Given the description of an element on the screen output the (x, y) to click on. 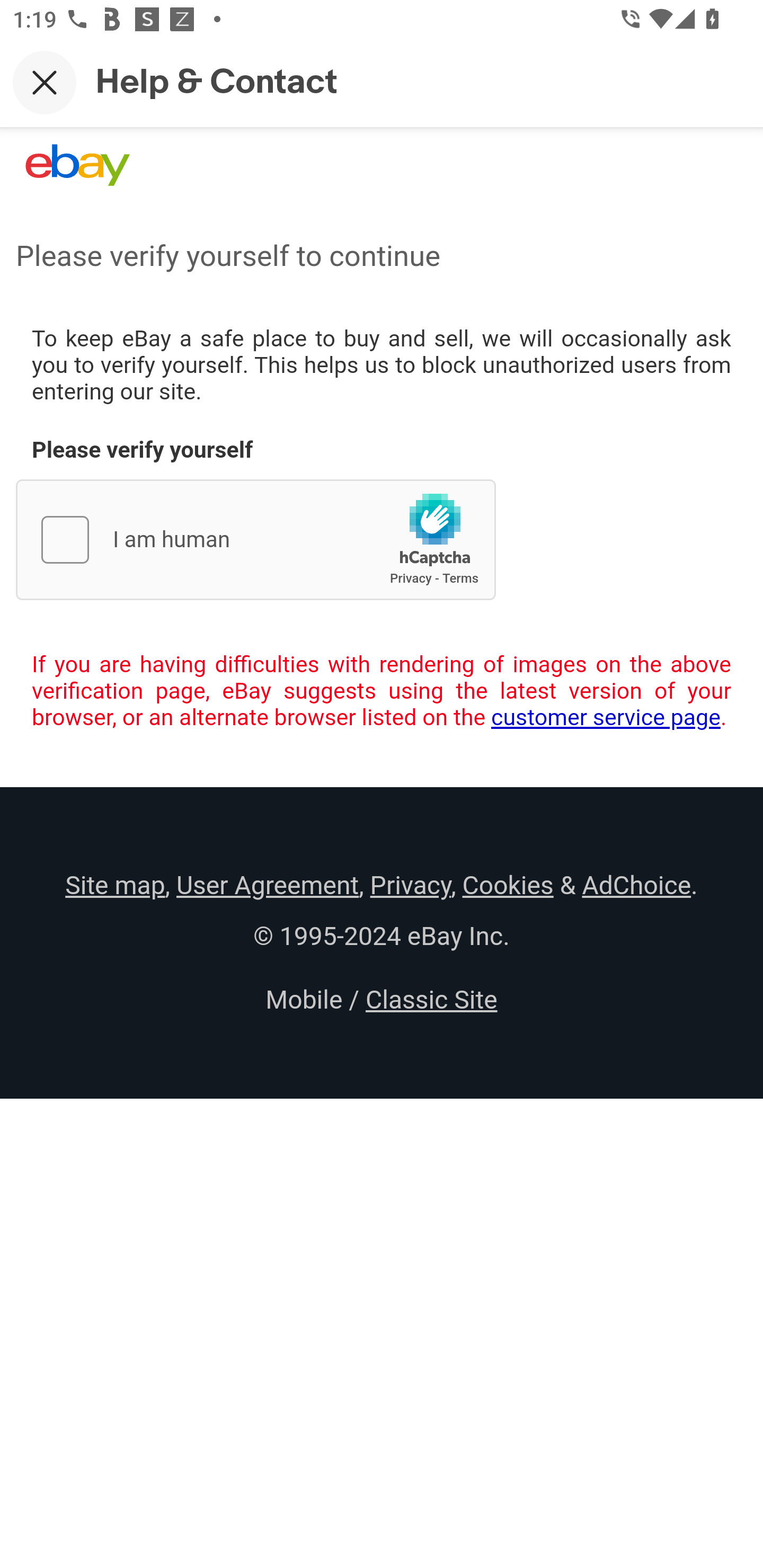
Close (44, 82)
eBay Home (77, 165)
hCaptcha Privacy Policy Privacy (410, 578)
hCaptcha Terms of Service Terms (459, 578)
customer service page (605, 717)
Site map (114, 884)
User Agreement (266, 884)
Privacy (409, 884)
Cookies (507, 884)
AdChoice (636, 884)
